Given the description of an element on the screen output the (x, y) to click on. 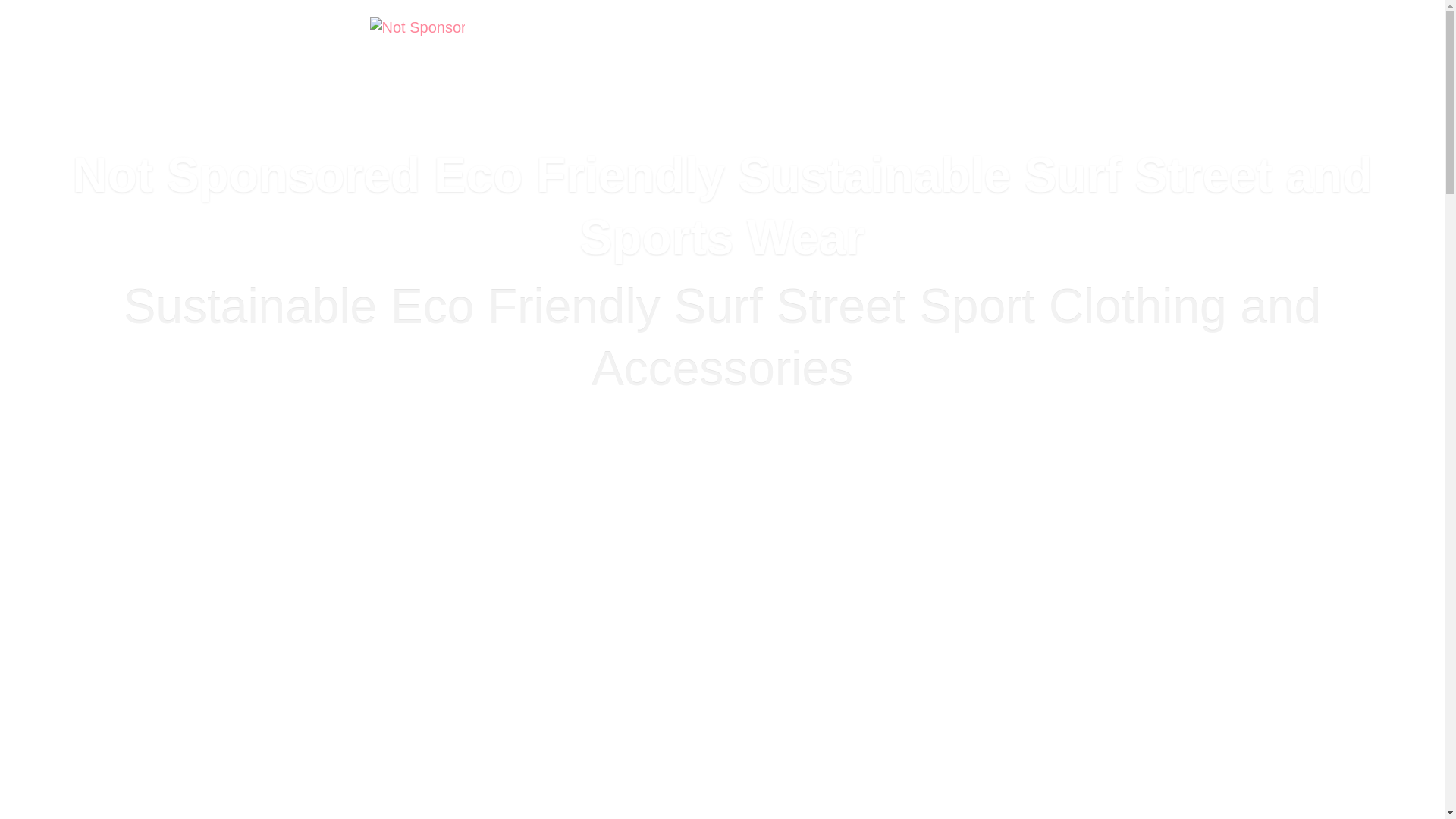
Shop Not Sponsored Surf Element type: text (644, 70)
Home Element type: text (528, 70)
Contact Element type: text (1040, 70)
Corporate Branding Element type: text (797, 70)
Why Not Sponsored Element type: text (936, 70)
